Given the description of an element on the screen output the (x, y) to click on. 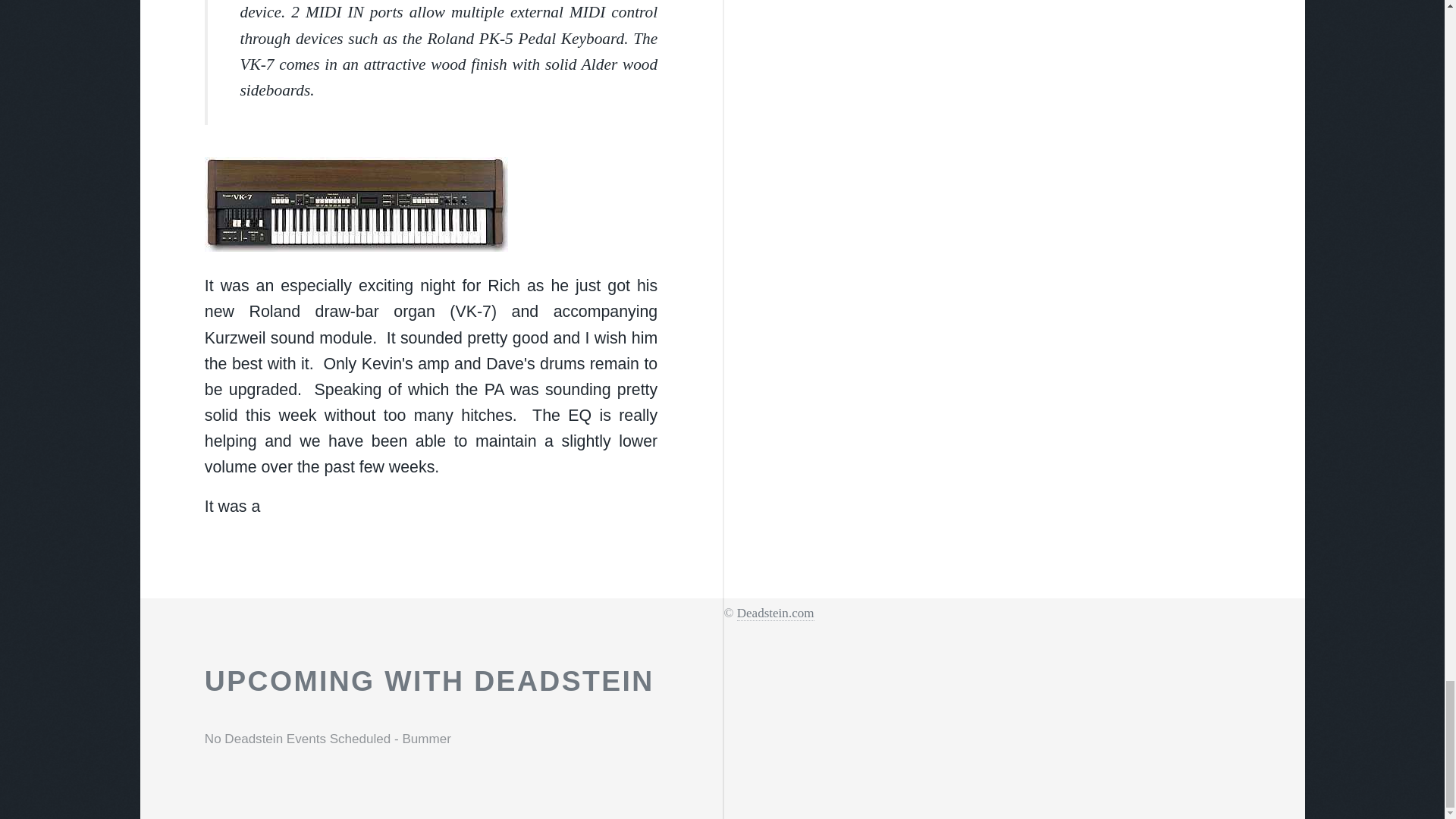
Deadstein.com (774, 613)
